Given the description of an element on the screen output the (x, y) to click on. 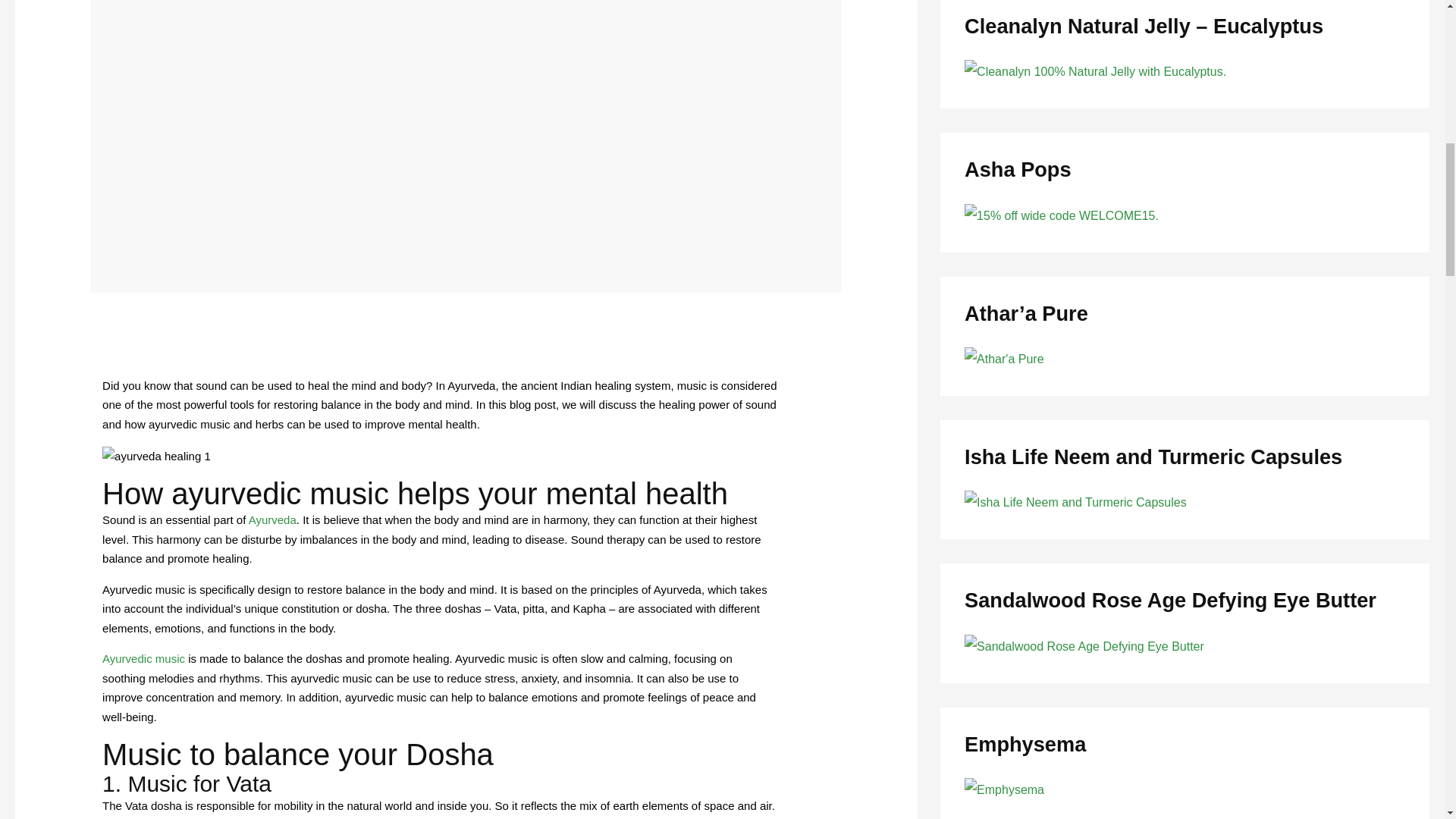
Ayurveda (272, 519)
Ayurvedic music (142, 658)
